Given the description of an element on the screen output the (x, y) to click on. 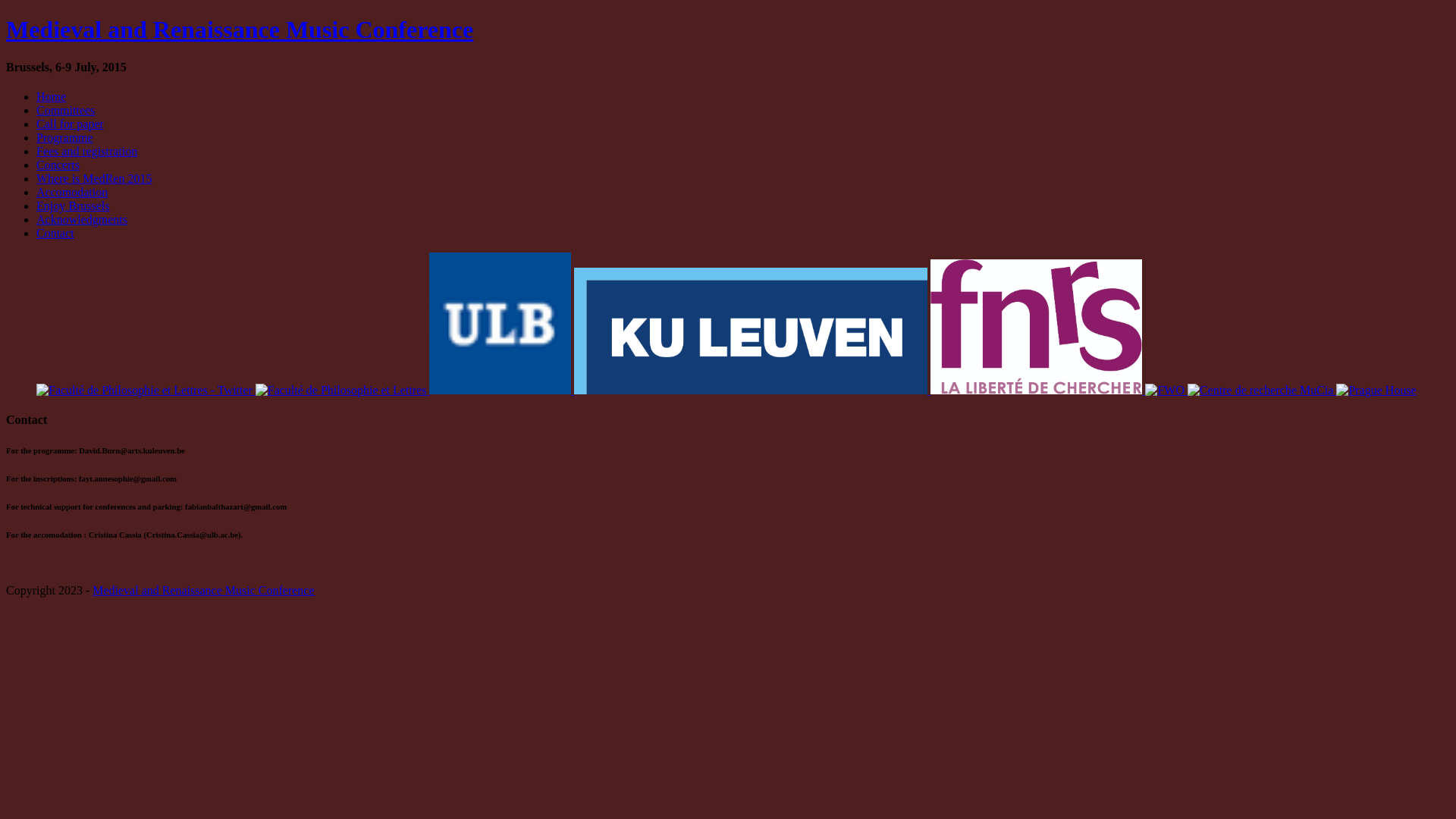
Contact Element type: text (55, 232)
FNRS Element type: hover (1036, 326)
Accomodation Element type: text (71, 191)
Call for paper Element type: text (69, 123)
Programme Element type: text (64, 137)
Medieval and Renaissance Music Conference Element type: text (202, 589)
Fees and registration Element type: text (86, 150)
Prague House Element type: hover (1375, 390)
Acknowledgments Element type: text (81, 219)
Where is MedRen 2015 Element type: text (93, 178)
Committees Element type: text (65, 109)
Home Element type: text (50, 96)
Medieval and Renaissance Music Conference Element type: text (239, 29)
Enjoy Brussels Element type: text (72, 205)
Concerts Element type: text (57, 164)
FWO Element type: hover (1164, 390)
KUL Element type: hover (750, 330)
Centre de recherche MuCia Element type: hover (1260, 390)
